Given the description of an element on the screen output the (x, y) to click on. 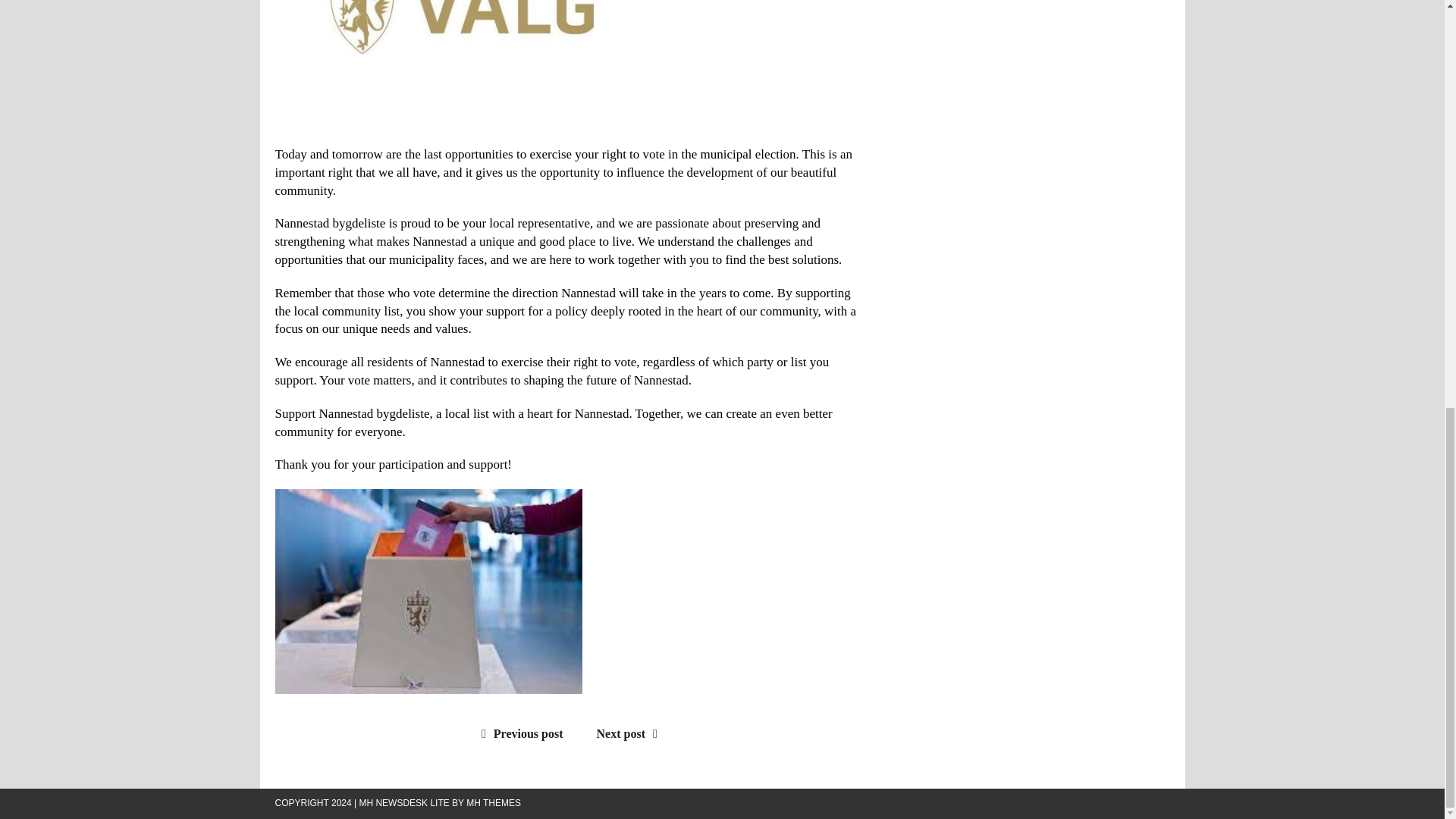
Previous post (518, 733)
MH THEMES (493, 802)
Next post (630, 733)
